Given the description of an element on the screen output the (x, y) to click on. 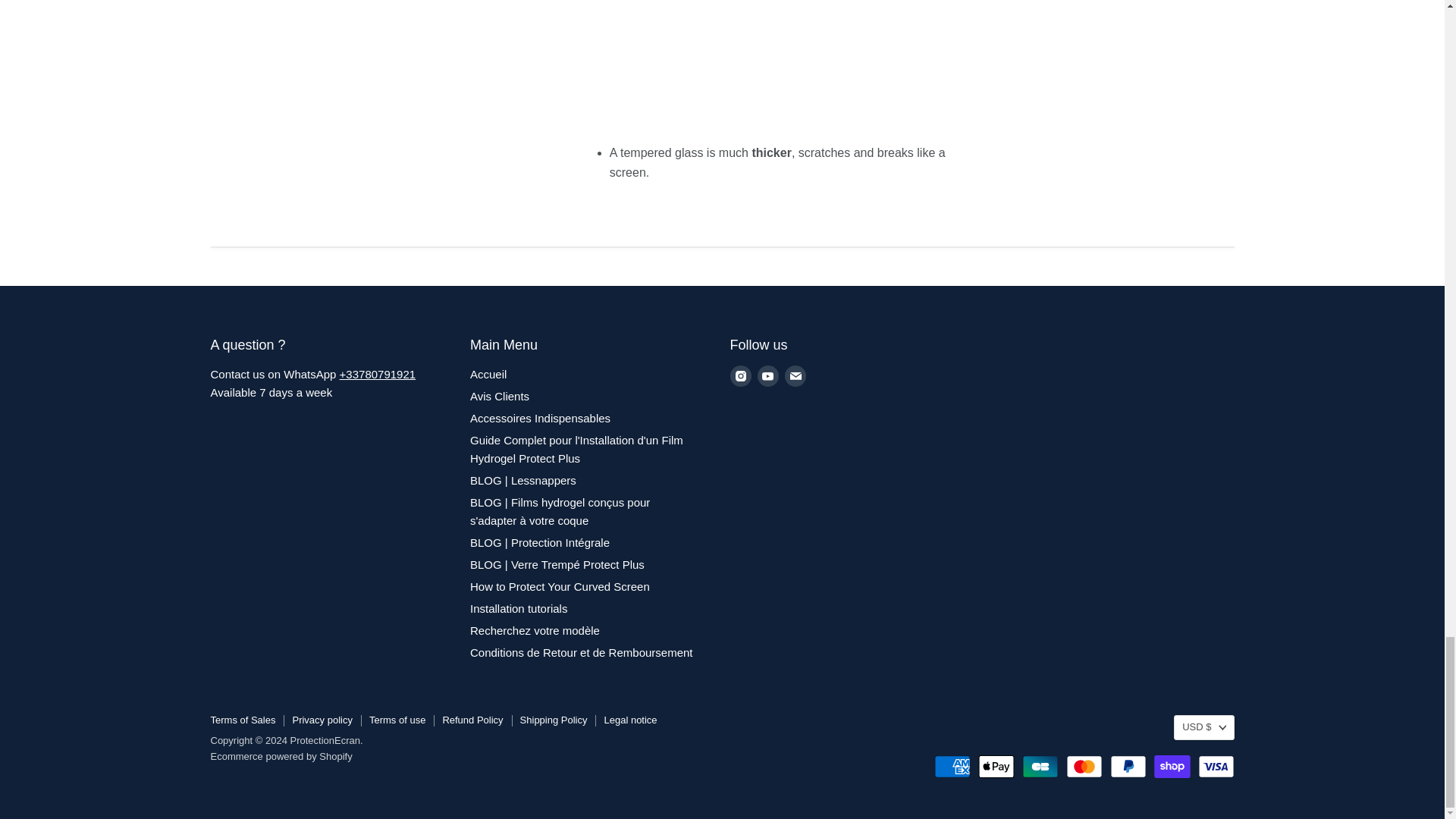
Apple Pay (996, 766)
American Express (952, 766)
Youtube (767, 375)
Shop Pay (1172, 766)
Mastercard (1083, 766)
PayPal (1128, 766)
Cartes Bancaires (1040, 766)
E-mail (794, 375)
Visa (1216, 766)
Instagram (740, 375)
